Given the description of an element on the screen output the (x, y) to click on. 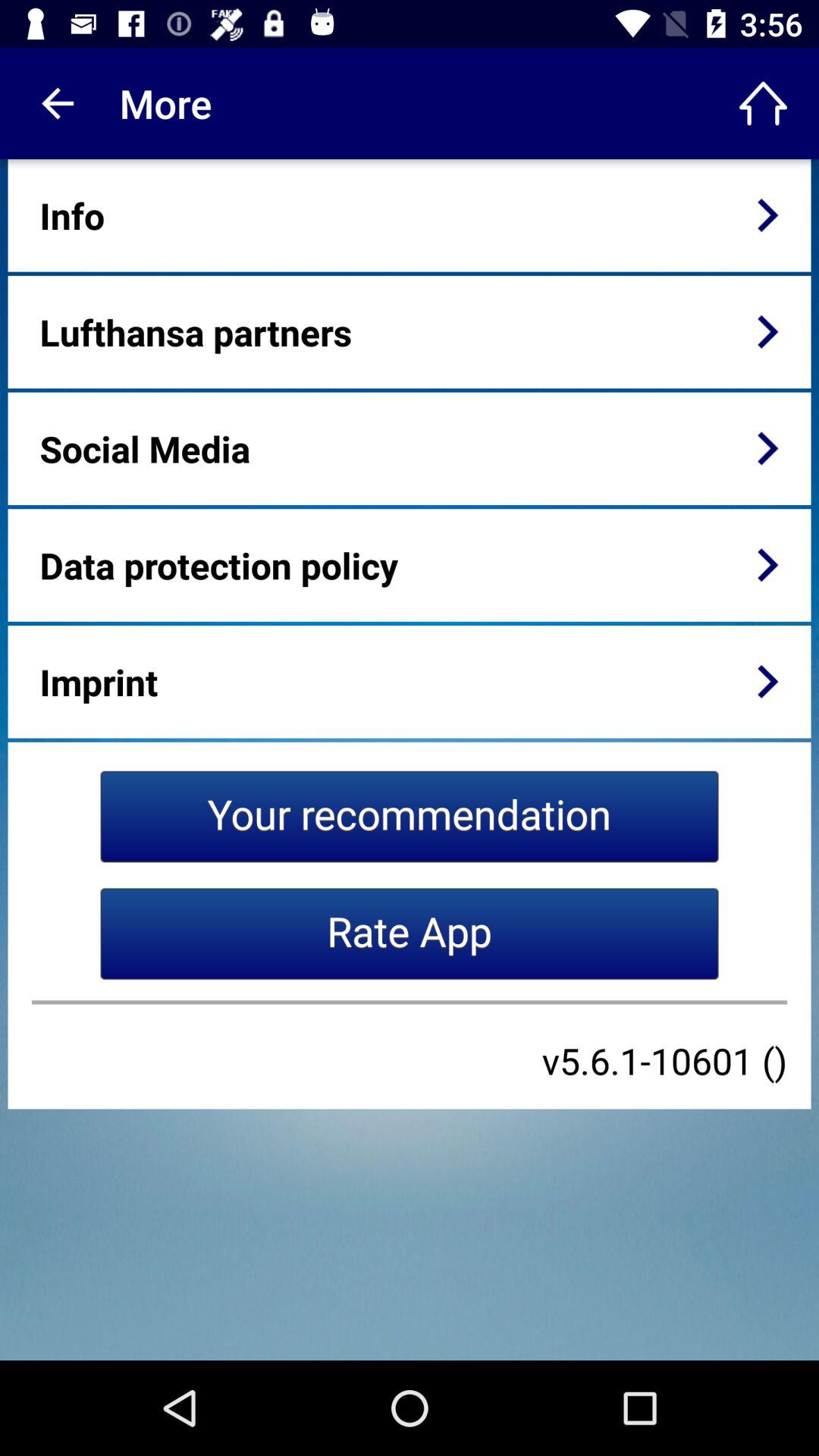
select the item above the rate app icon (409, 816)
